Given the description of an element on the screen output the (x, y) to click on. 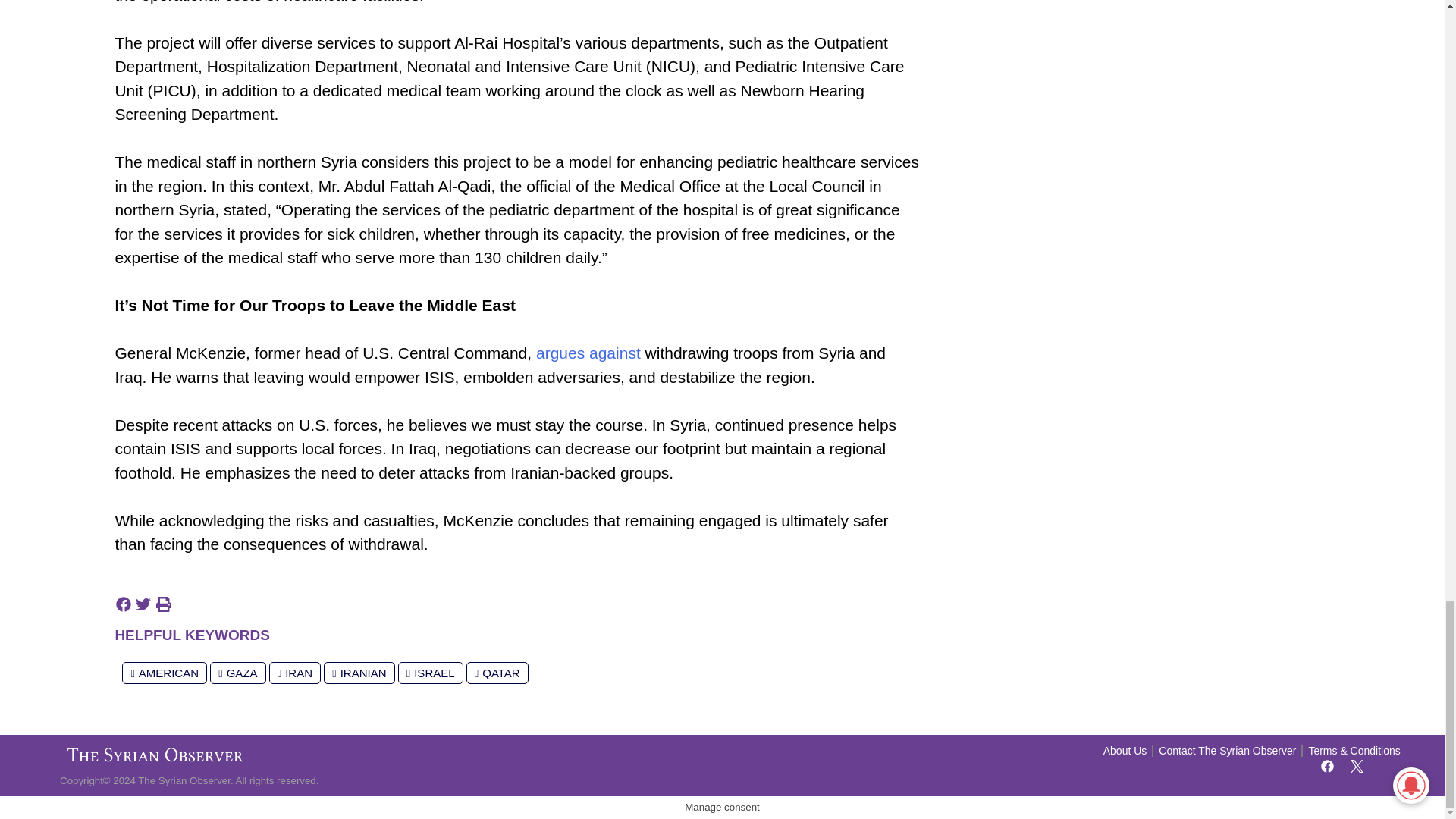
GAZA (236, 672)
IRAN (294, 672)
QATAR (496, 672)
AMERICAN (164, 672)
IRANIAN (358, 672)
argues against (587, 352)
About Us (1125, 750)
ISRAEL (430, 672)
